Given the description of an element on the screen output the (x, y) to click on. 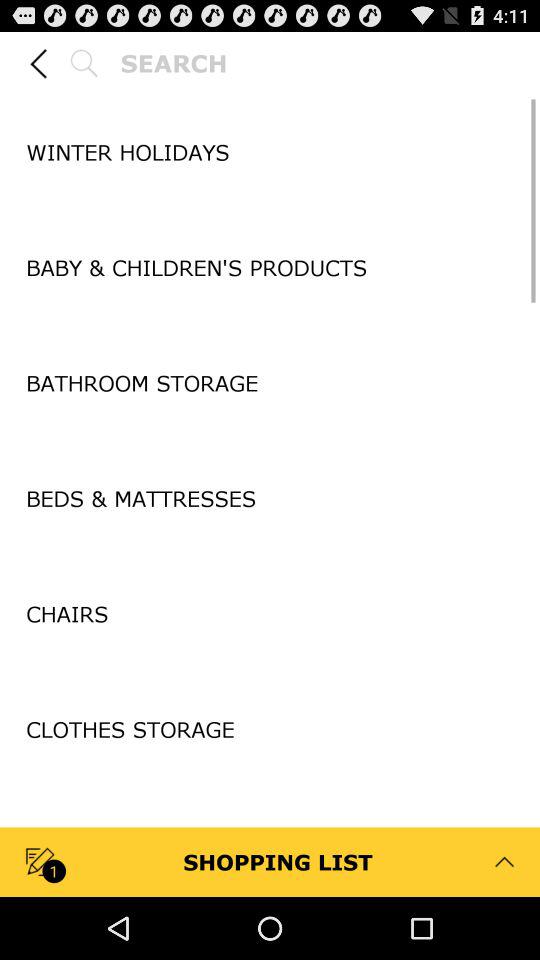
click the icon above the cooking icon (270, 787)
